Given the description of an element on the screen output the (x, y) to click on. 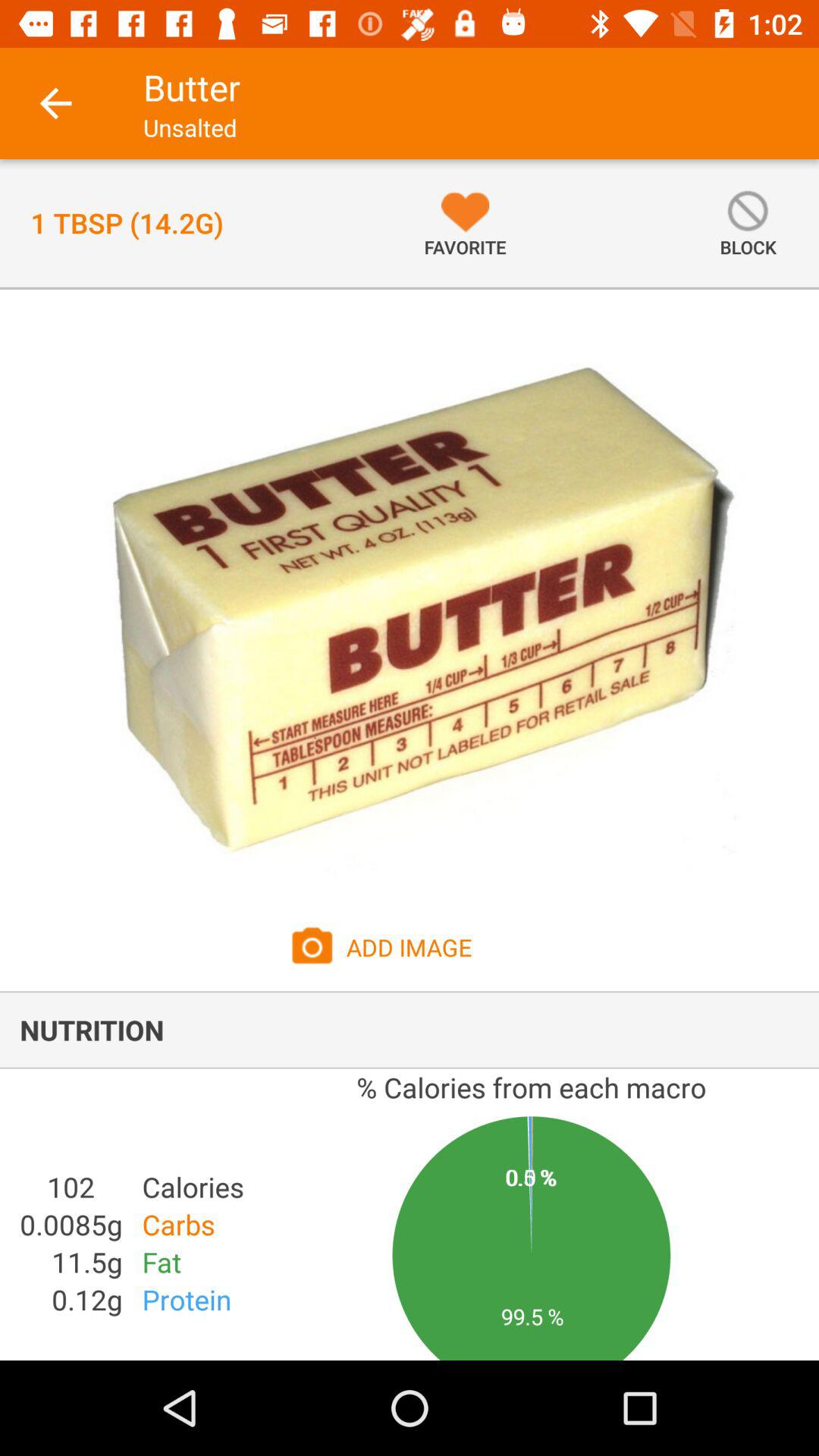
tap the icon next to the 1 tbsp 14 (464, 223)
